Given the description of an element on the screen output the (x, y) to click on. 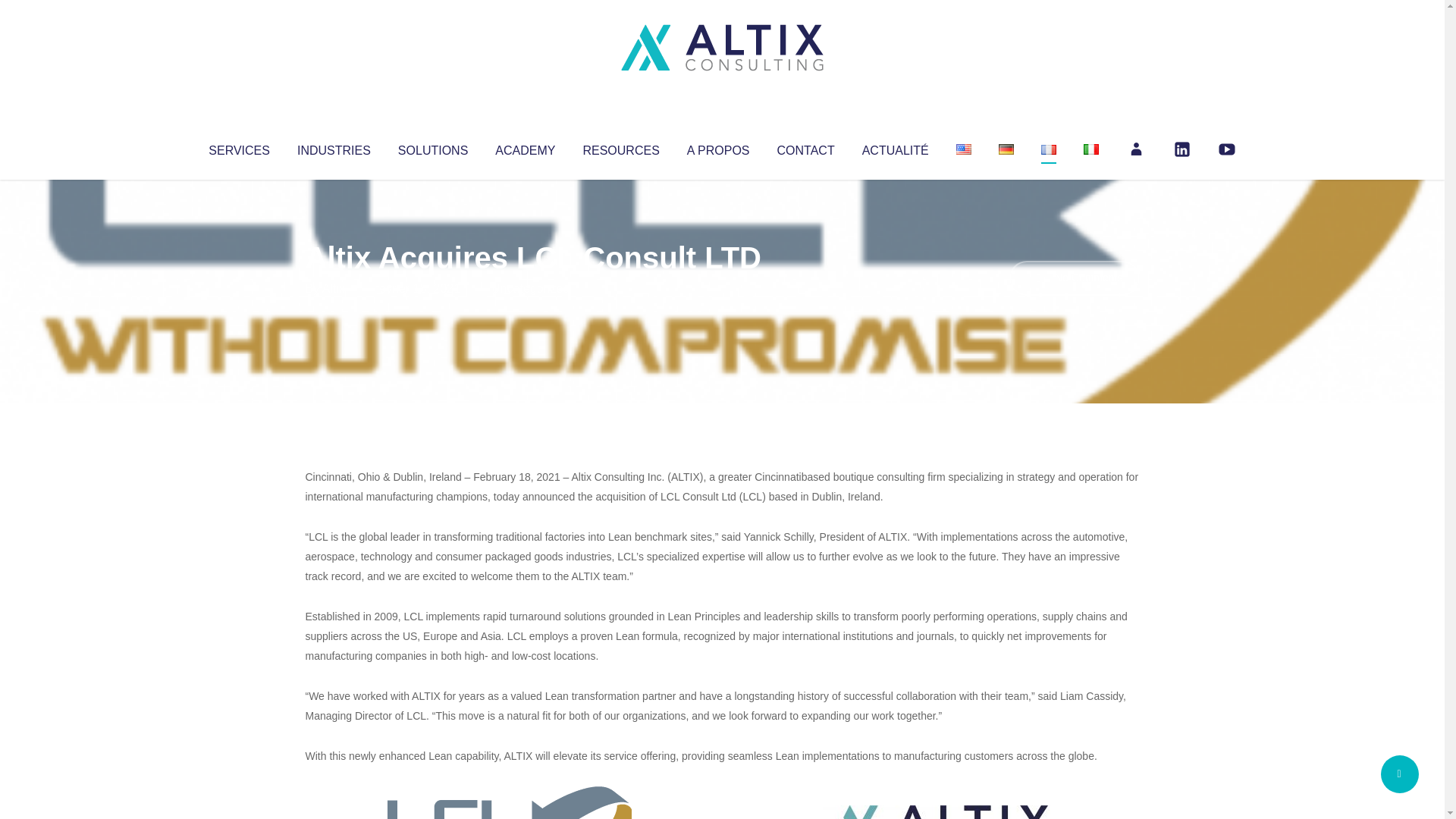
A PROPOS (718, 146)
No Comments (1073, 278)
Uncategorized (530, 287)
ACADEMY (524, 146)
Articles par Altix (333, 287)
RESOURCES (620, 146)
INDUSTRIES (334, 146)
SERVICES (238, 146)
SOLUTIONS (432, 146)
Altix (333, 287)
